Given the description of an element on the screen output the (x, y) to click on. 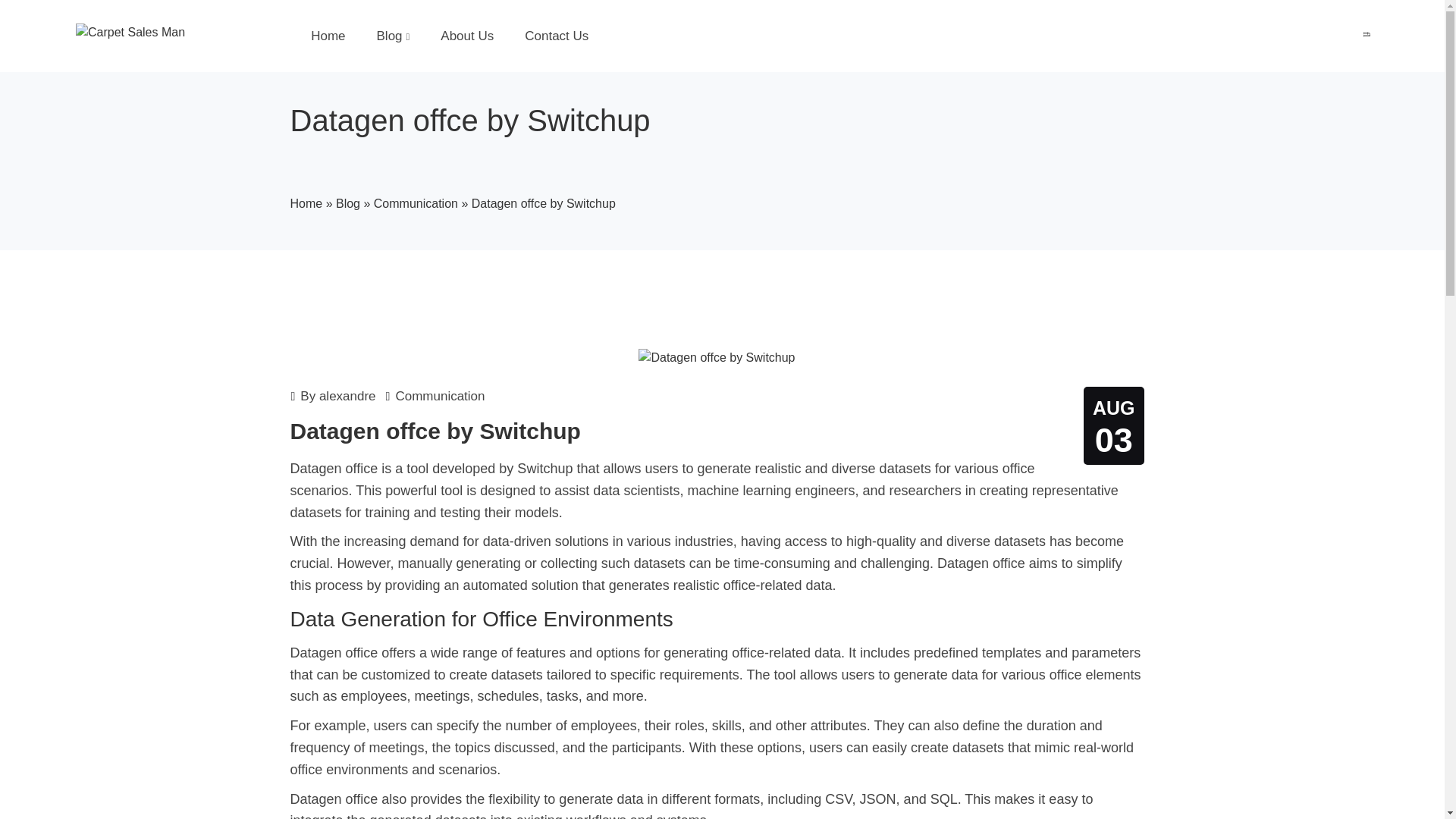
Contact Us (556, 36)
Home (305, 203)
Blog (393, 36)
Home (327, 36)
Communication (439, 400)
About Us (466, 36)
Blog (347, 203)
alexandre (346, 400)
Communication (416, 203)
